Given the description of an element on the screen output the (x, y) to click on. 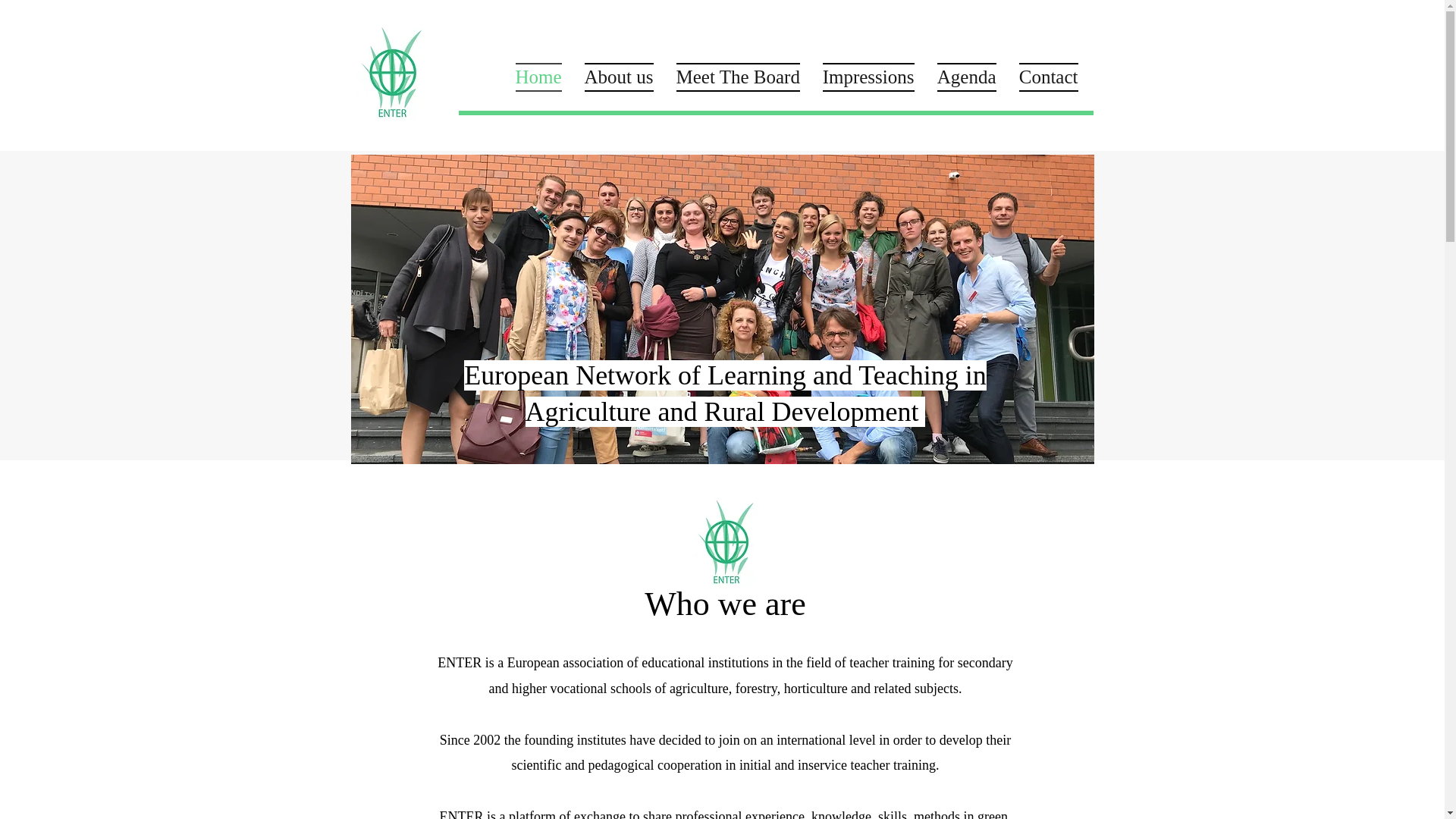
Contact (1042, 74)
About us (619, 74)
Impressions (868, 74)
Meet The Board (736, 74)
Agenda (965, 74)
Home (537, 74)
